Given the description of an element on the screen output the (x, y) to click on. 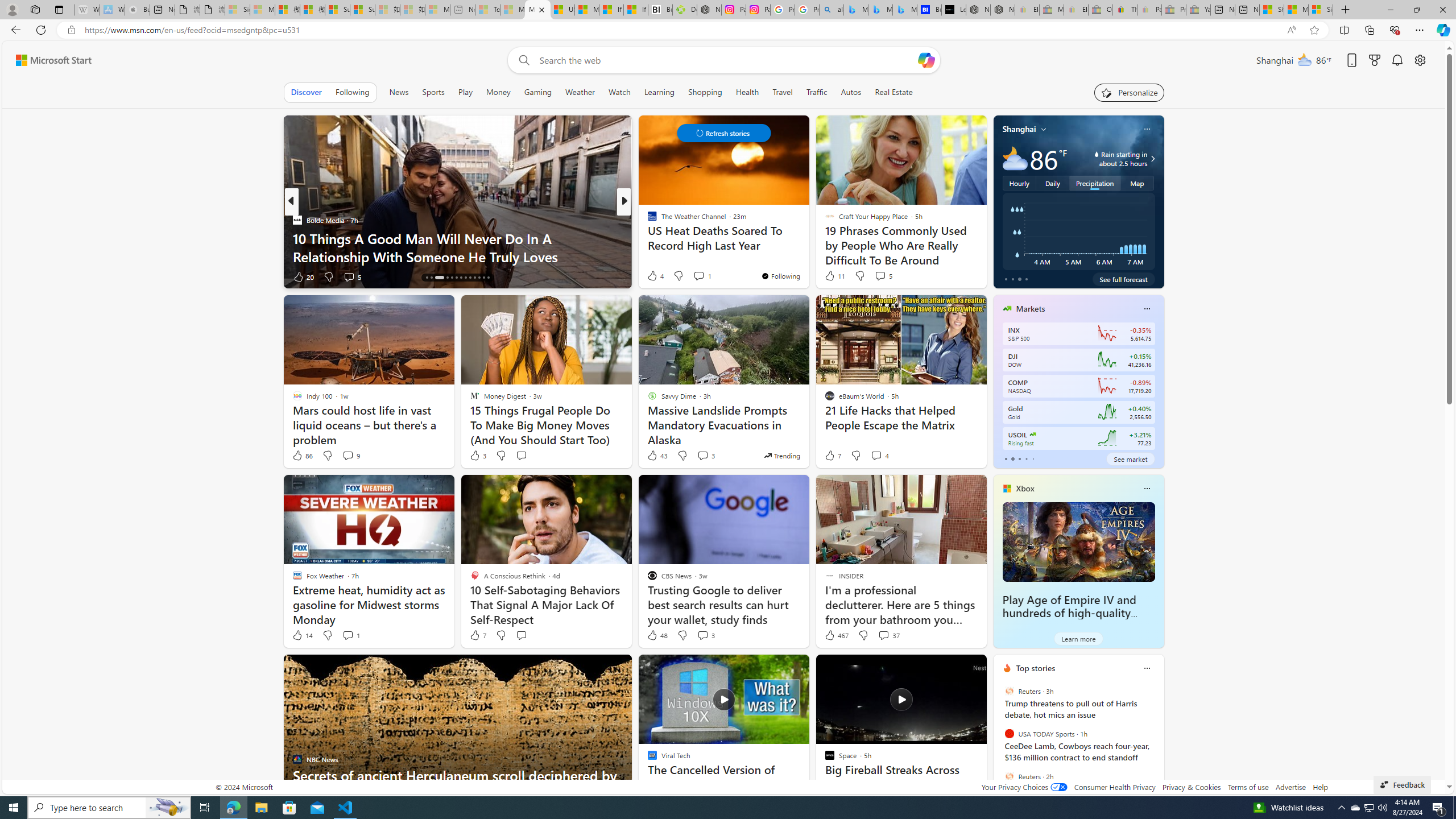
Terms of use (1247, 786)
'Pretty spectacular' discovery in George Washington's cellar (807, 247)
516 Like (654, 276)
US Oil WTI (1032, 434)
Gaming (537, 92)
Microsoft Bing Travel - Shangri-La Hotel Bangkok (904, 9)
View comments 339 Comment (703, 276)
Sign in to your Microsoft account - Sleeping (236, 9)
AutomationID: tab-21 (465, 277)
The Cool Down (647, 219)
123 Like (654, 276)
Shopping (705, 92)
